Given the description of an element on the screen output the (x, y) to click on. 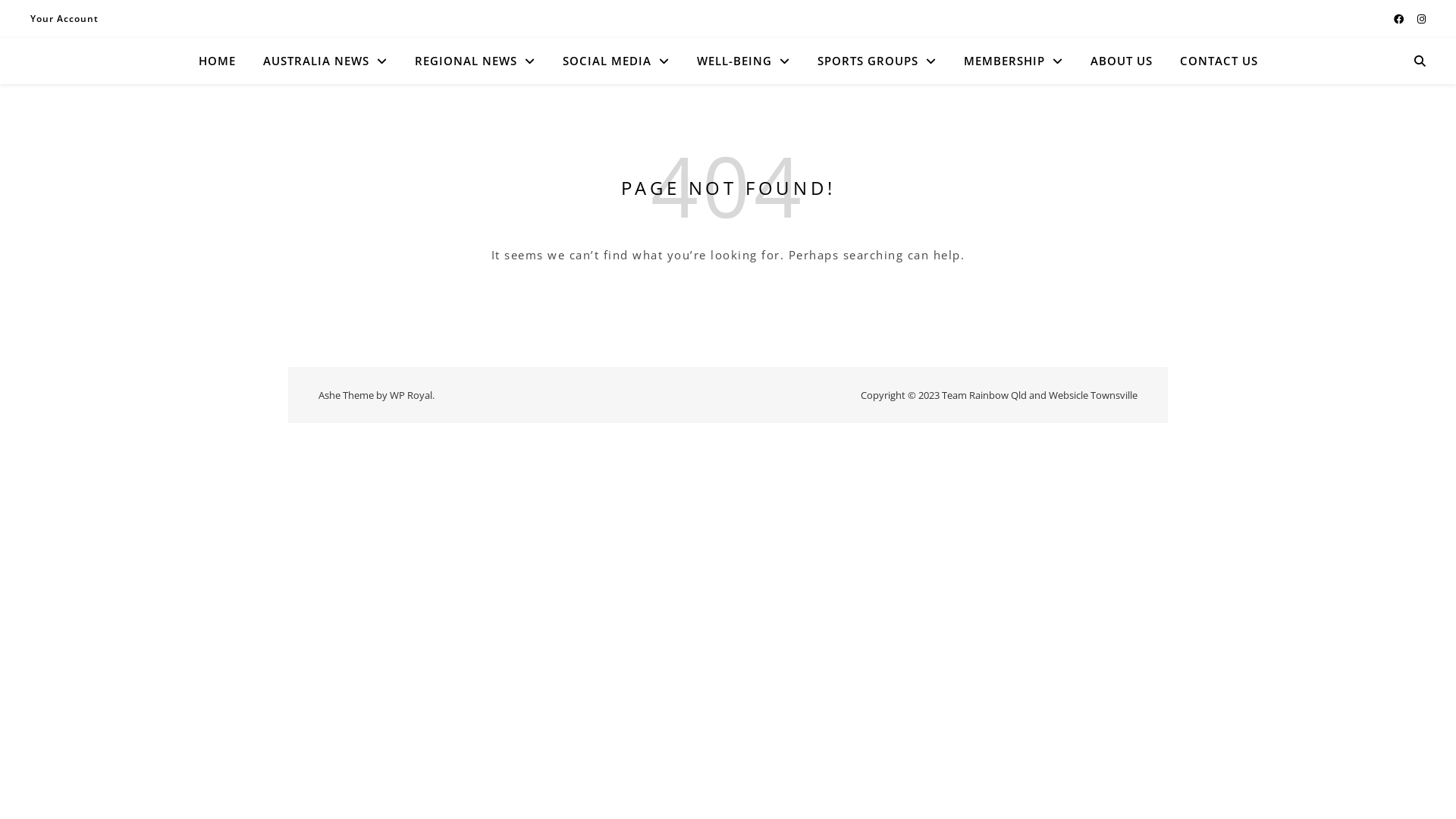
WELL-BEING Element type: text (742, 60)
ABOUT US Element type: text (1121, 60)
MEMBERSHIP Element type: text (1012, 60)
AUSTRALIA NEWS Element type: text (324, 60)
CONTACT US Element type: text (1212, 60)
Your Account Element type: text (64, 18)
SPORTS GROUPS Element type: text (876, 60)
REGIONAL NEWS Element type: text (473, 60)
HOME Element type: text (222, 60)
WP Royal Element type: text (410, 394)
SOCIAL MEDIA Element type: text (615, 60)
